Given the description of an element on the screen output the (x, y) to click on. 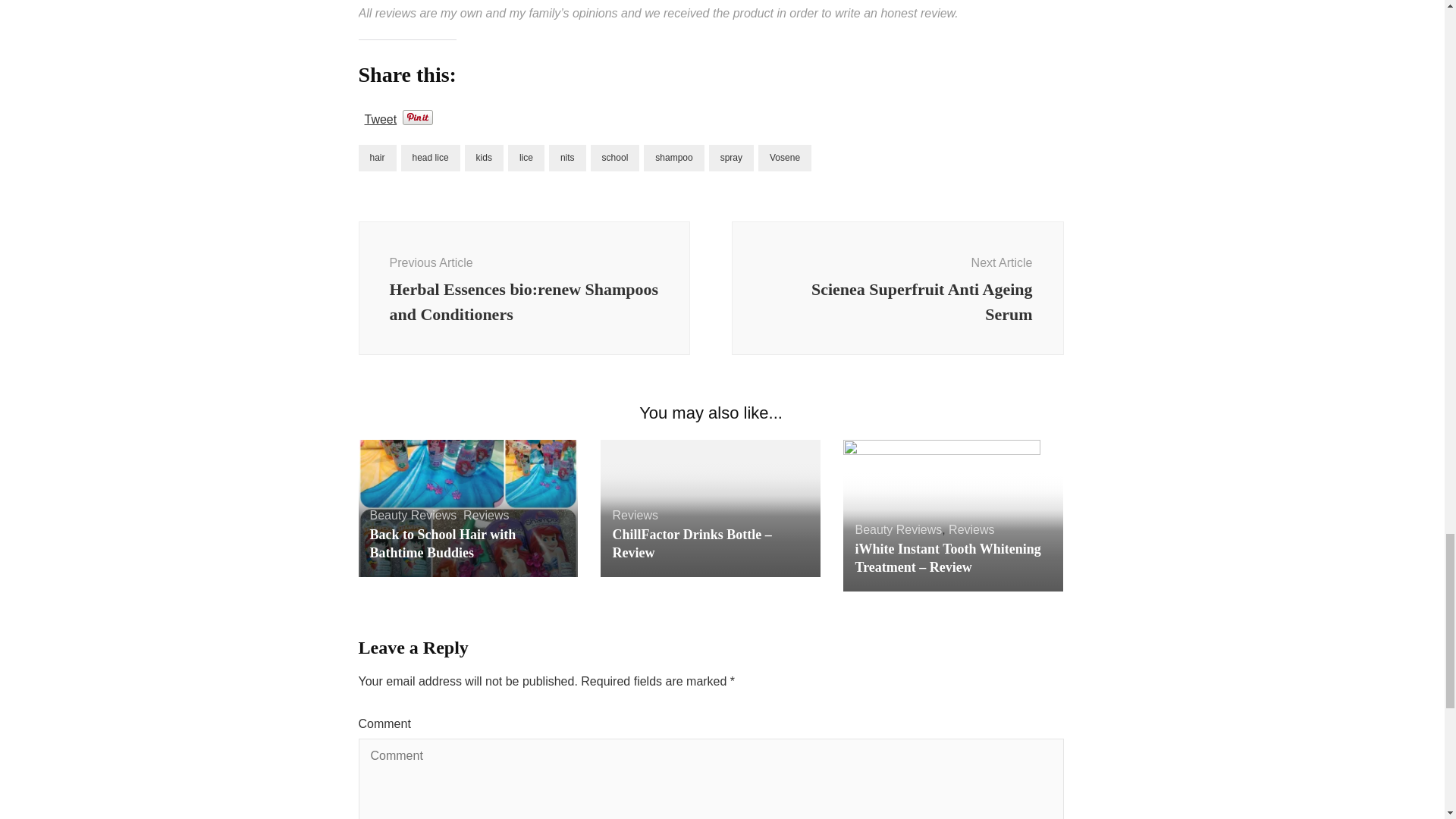
spray (731, 157)
nits (567, 157)
lice (526, 157)
Tweet (380, 116)
school (615, 157)
Vosene (897, 287)
shampoo (784, 157)
Back to School Hair with Bathtime Buddies (673, 157)
head lice (442, 543)
kids (430, 157)
hair (483, 157)
Beauty Reviews (377, 157)
Reviews (413, 514)
